Given the description of an element on the screen output the (x, y) to click on. 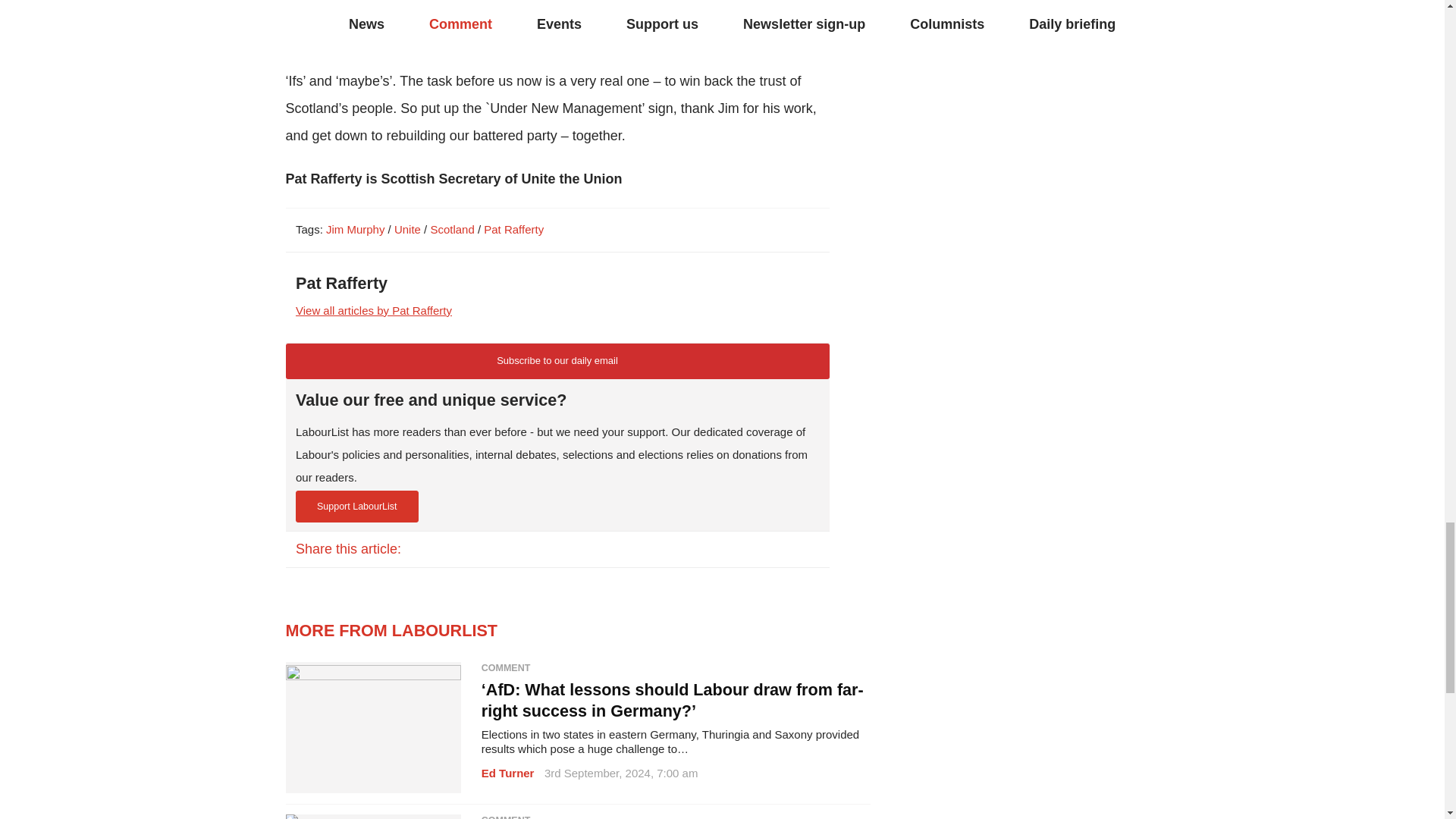
Jim Murphy (355, 228)
Subscribe to our daily email (556, 361)
Unite (407, 228)
Support LabourList (357, 506)
COMMENT (675, 667)
Scotland (451, 228)
View all articles by Pat Rafferty (373, 309)
Pat Rafferty (513, 228)
